Given the description of an element on the screen output the (x, y) to click on. 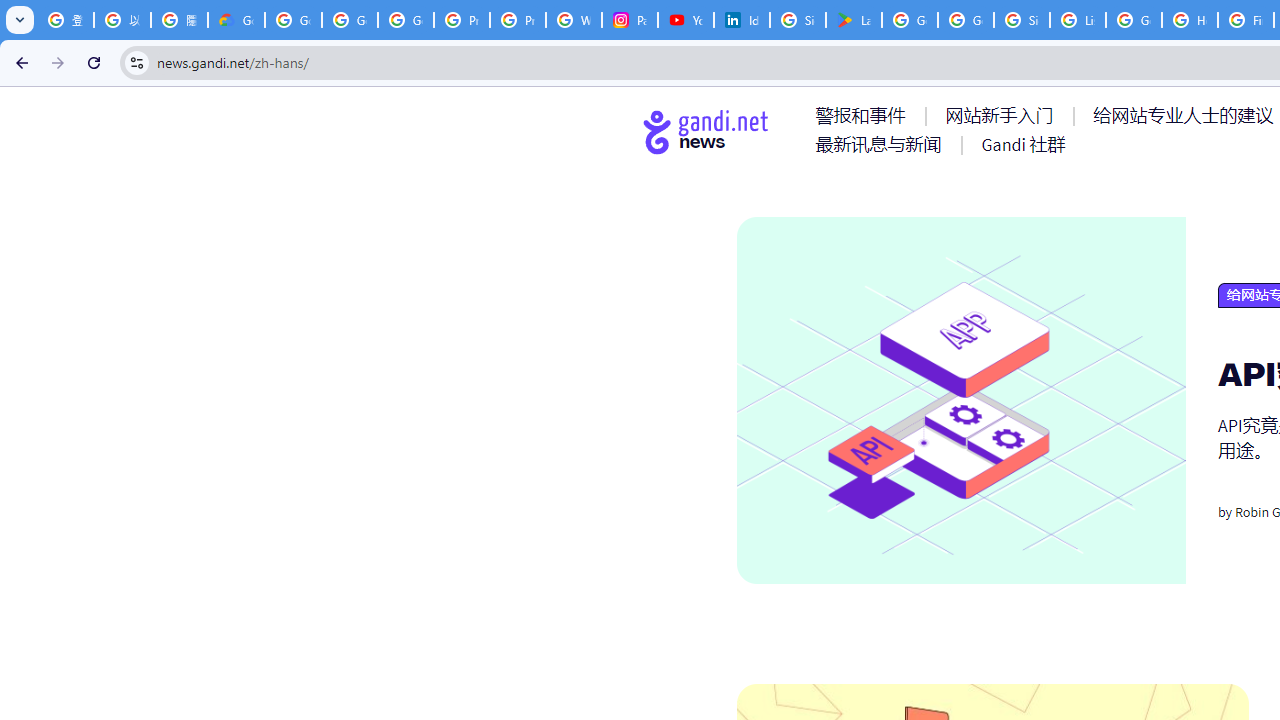
Sign in - Google Accounts (1021, 20)
Privacy Help Center - Policies Help (518, 20)
Sign in - Google Accounts (797, 20)
AutomationID: menu-item-77761 (863, 115)
Google Workspace - Specific Terms (966, 20)
